Given the description of an element on the screen output the (x, y) to click on. 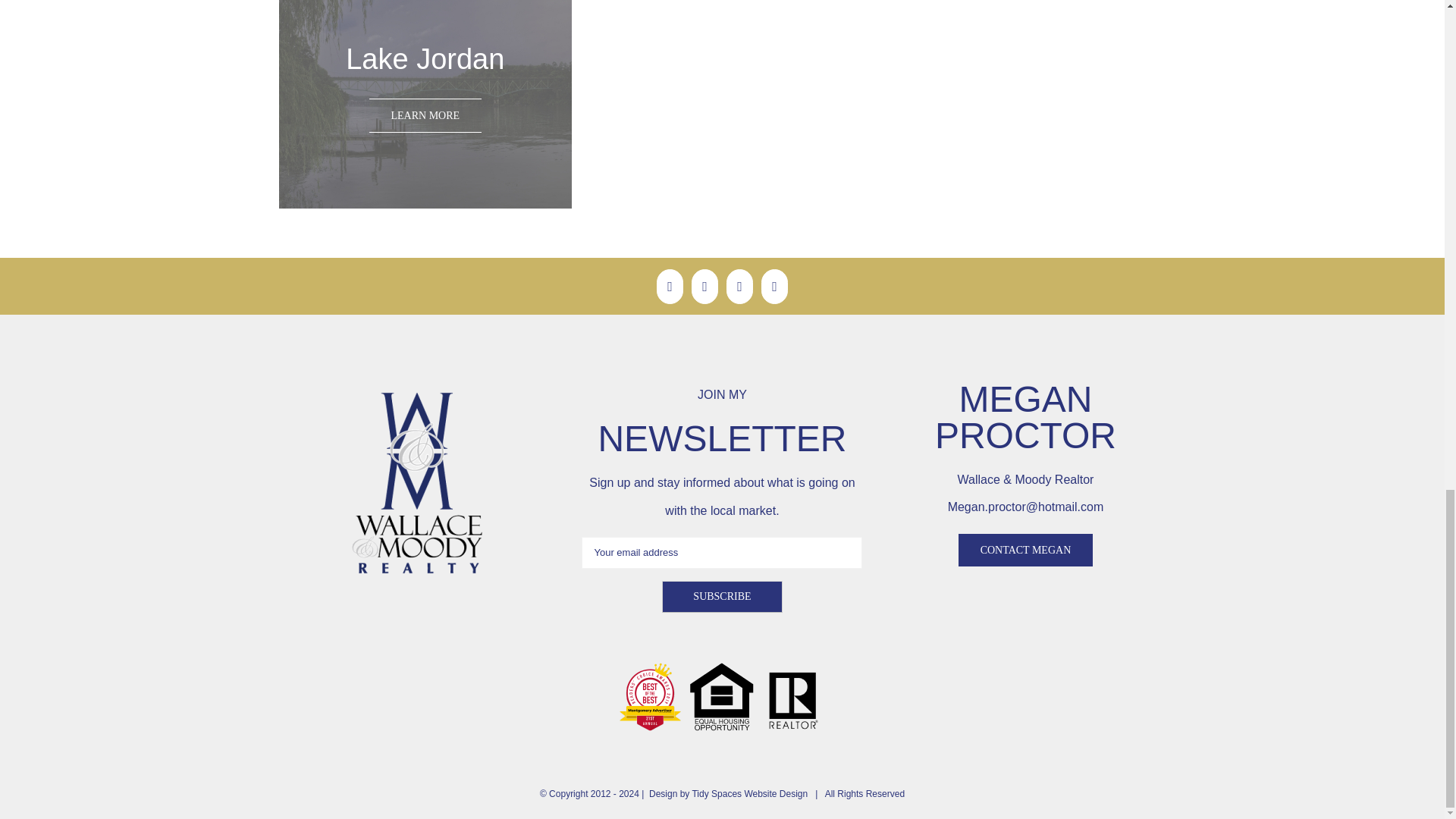
SUBSCRIBE (721, 596)
